Given the description of an element on the screen output the (x, y) to click on. 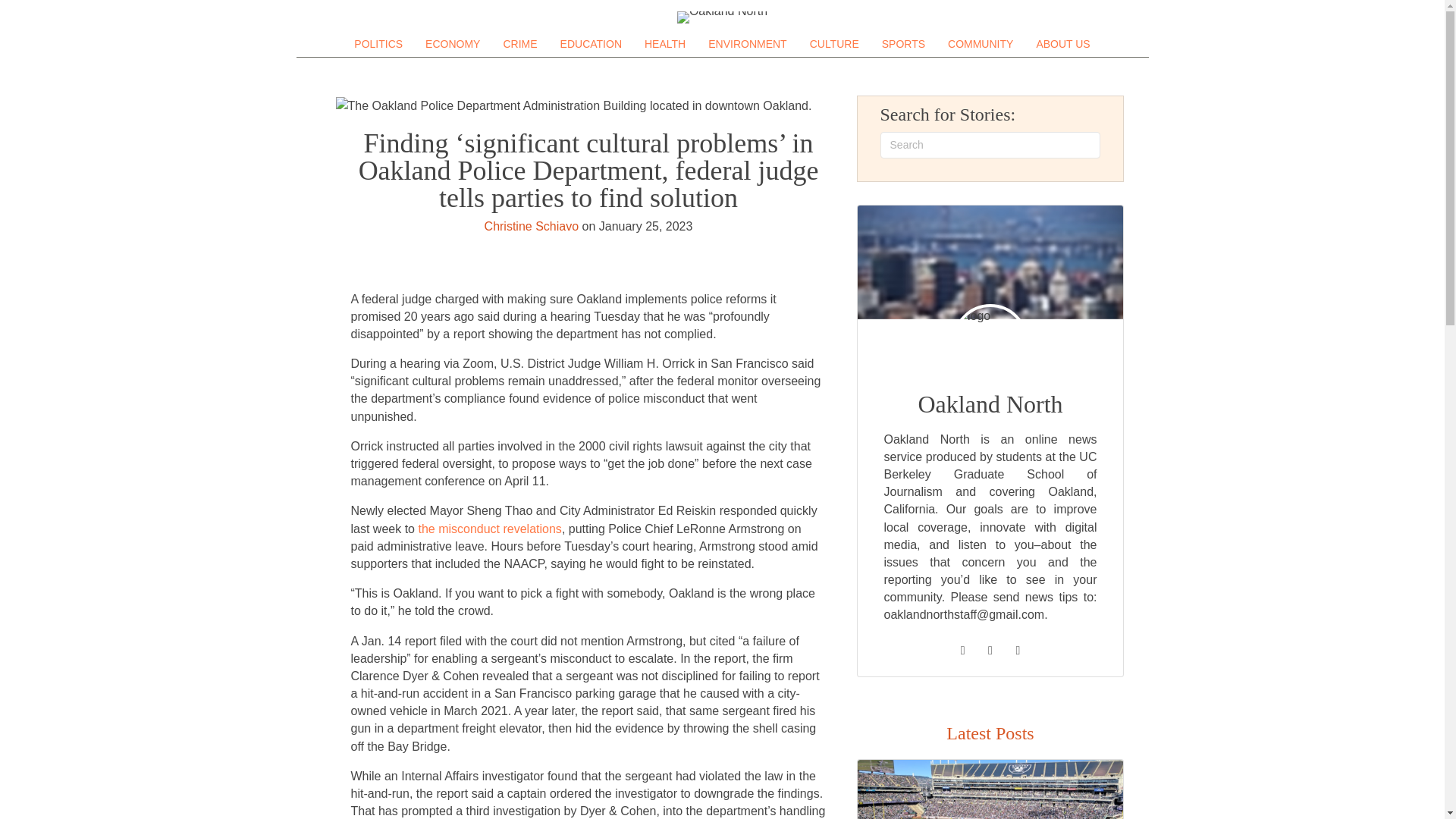
the misconduct revelations (488, 528)
Oakland North (722, 17)
Type and press Enter to search. (990, 144)
Christine Schiavo (531, 226)
Posts by Christine Schiavo (531, 226)
ENVIRONMENT (746, 44)
COMMUNITY (980, 44)
CRIME (519, 44)
CULTURE (834, 44)
POLITICS (378, 44)
